Given the description of an element on the screen output the (x, y) to click on. 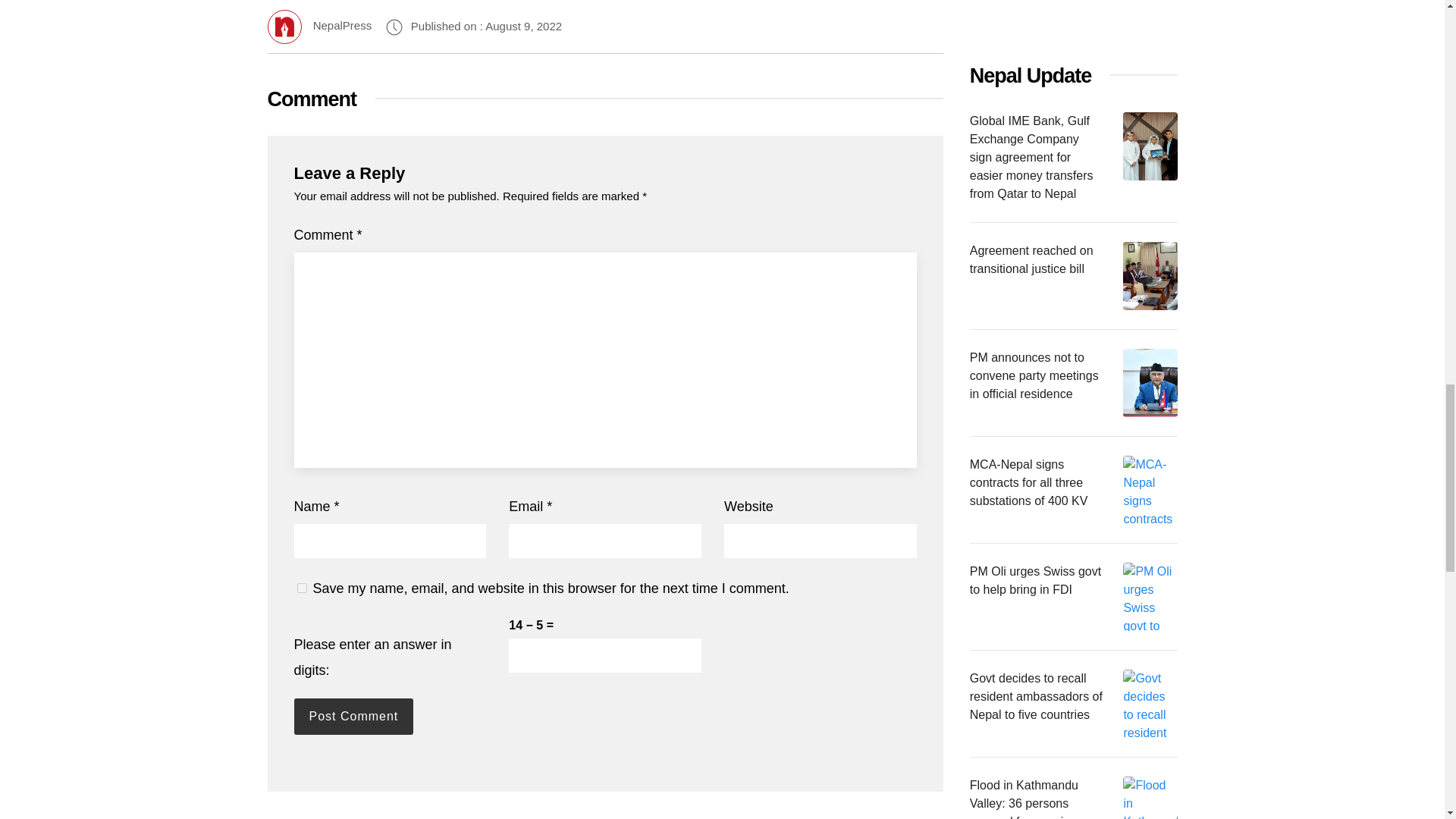
Post Comment (353, 716)
yes (302, 587)
